Given the description of an element on the screen output the (x, y) to click on. 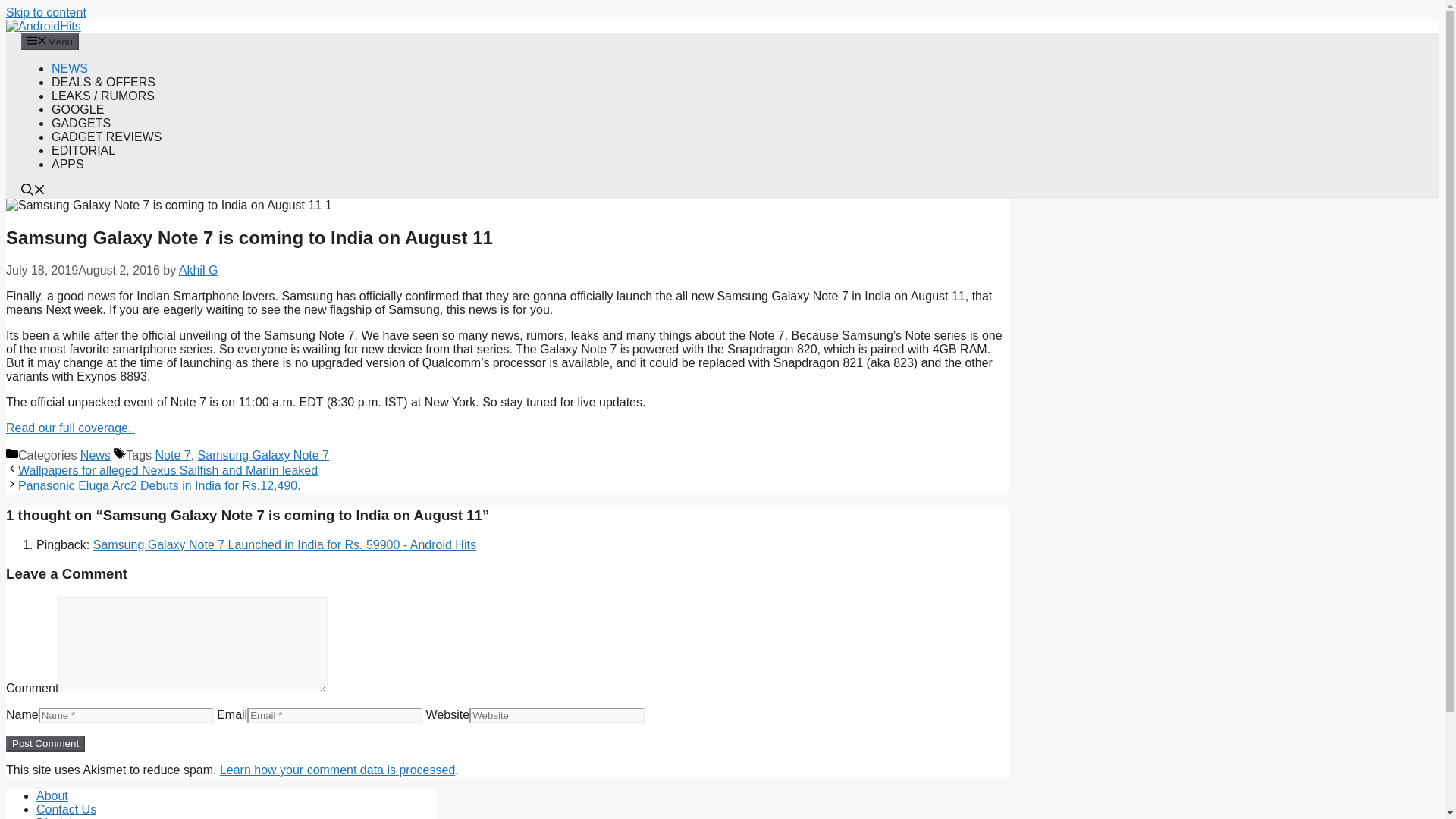
GOOGLE (76, 109)
Samsung Galaxy Note 7 is coming to India on August 11 1 (168, 205)
Panasonic Eluga Arc2 Debuts in India for Rs.12,490. (159, 485)
Skip to content (45, 11)
Skip to content (45, 11)
EDITORIAL (82, 150)
News (95, 454)
Post Comment (44, 743)
Wallpapers for alleged Nexus Sailfish and Marlin leaked (167, 470)
